Given the description of an element on the screen output the (x, y) to click on. 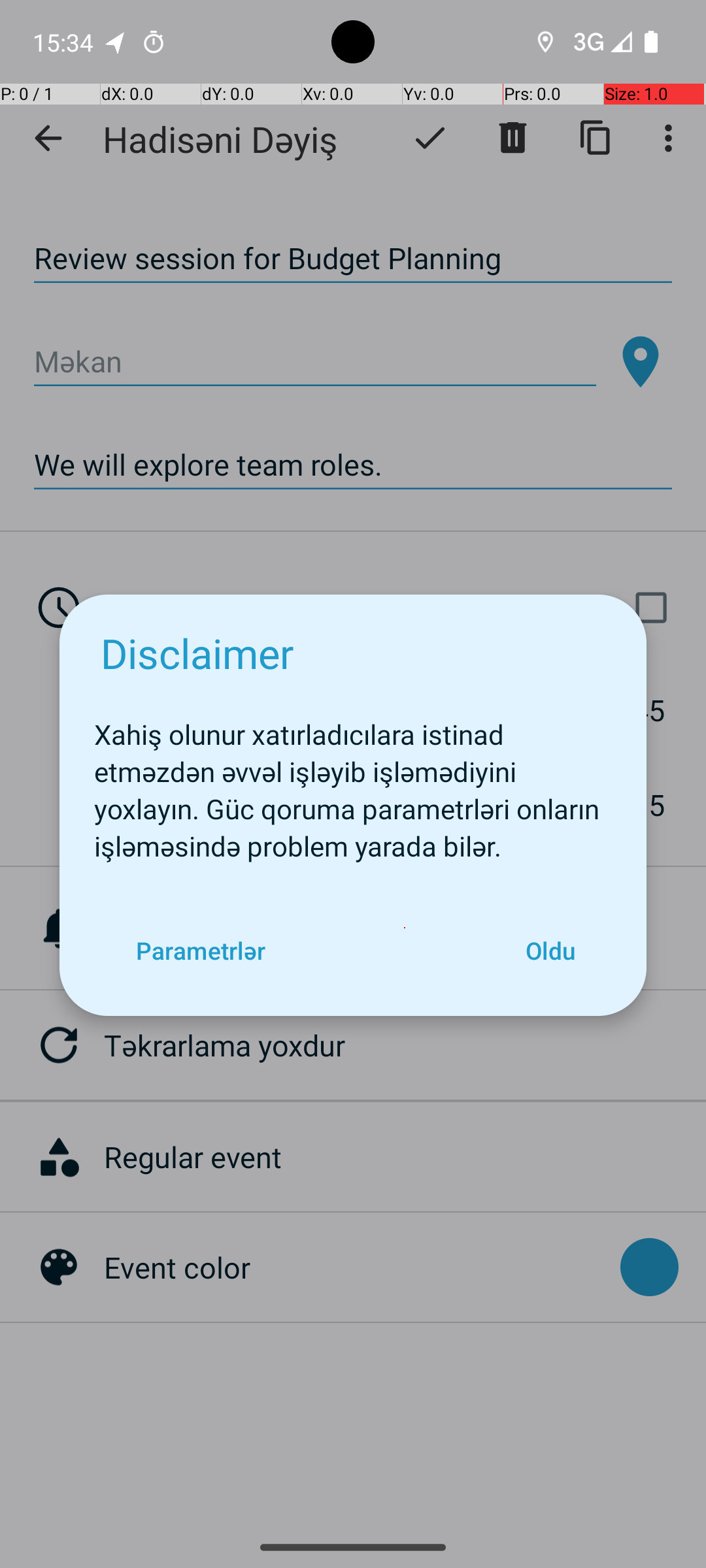
Disclaimer Element type: android.widget.TextView (196, 652)
Xahiş olunur xatırladıcılara istinad etməzdən əvvəl işləyib işləmədiyini yoxlayın. Güc qoruma parametrləri onların işləməsində problem yarada bilər. Element type: android.widget.TextView (352, 782)
Parametrlər Element type: android.widget.Button (200, 950)
Oldu Element type: android.widget.Button (550, 950)
